Given the description of an element on the screen output the (x, y) to click on. 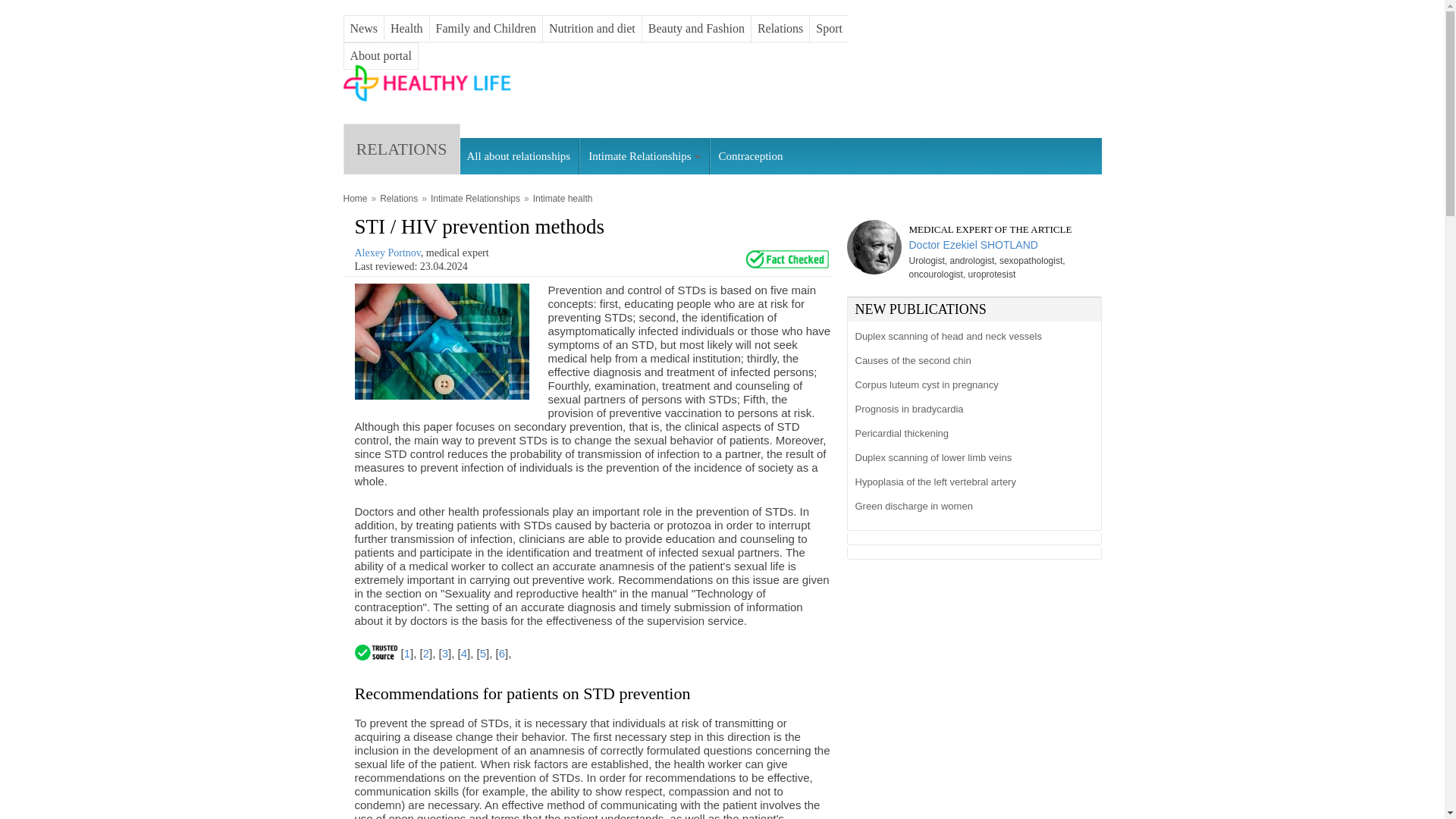
Duplex scanning of head and neck vessels (971, 336)
News (363, 28)
Relations (780, 28)
Causes of the second chin (971, 361)
Hypoplasia of the left vertebral artery (971, 482)
Prognosis in bradycardia (971, 409)
Home (354, 198)
Health (406, 28)
Family and Children (485, 28)
Relations (398, 198)
About portal (381, 55)
Corpus luteum cyst in pregnancy (971, 385)
